Given the description of an element on the screen output the (x, y) to click on. 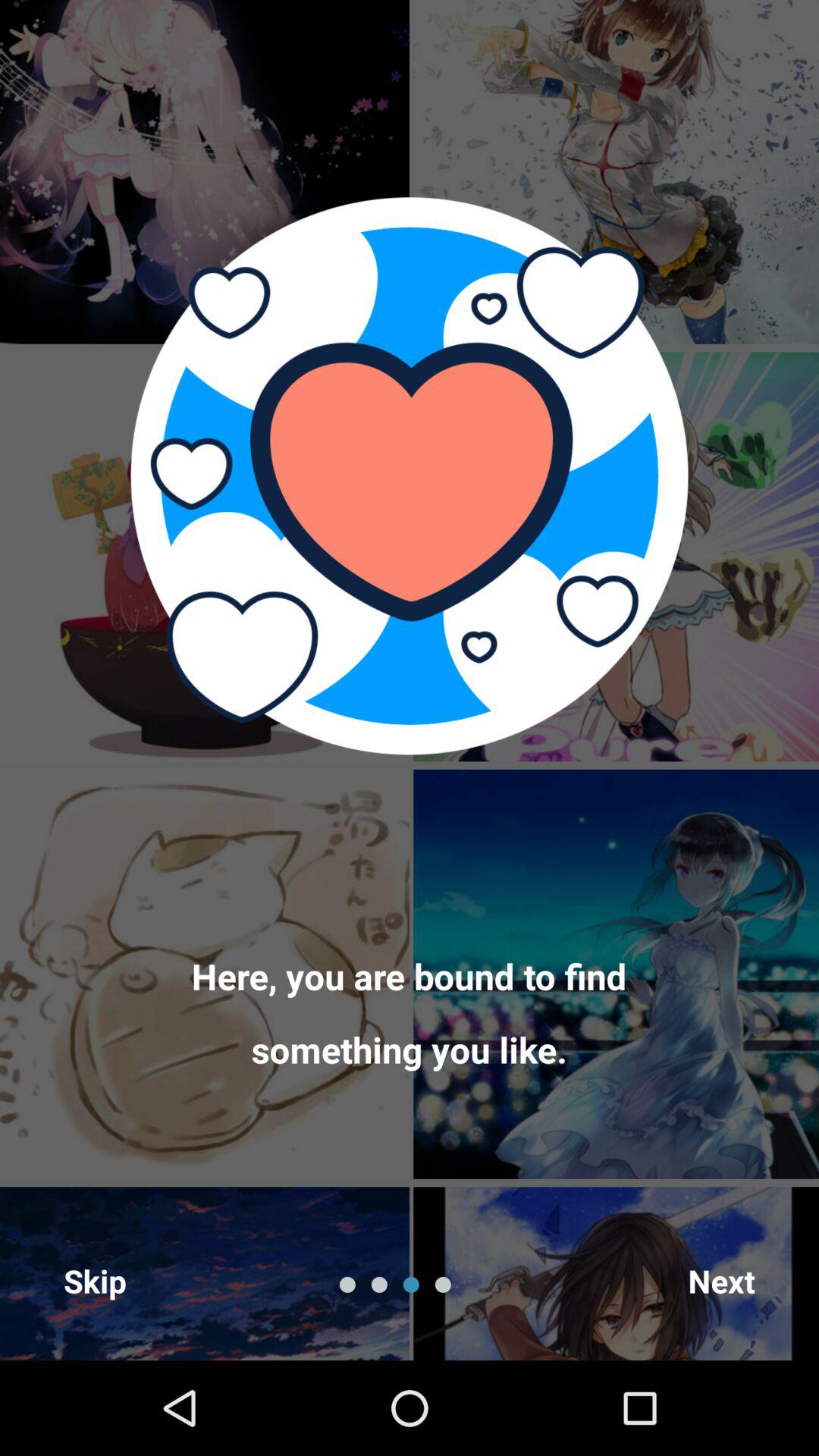
swipe until skip icon (95, 1280)
